Given the description of an element on the screen output the (x, y) to click on. 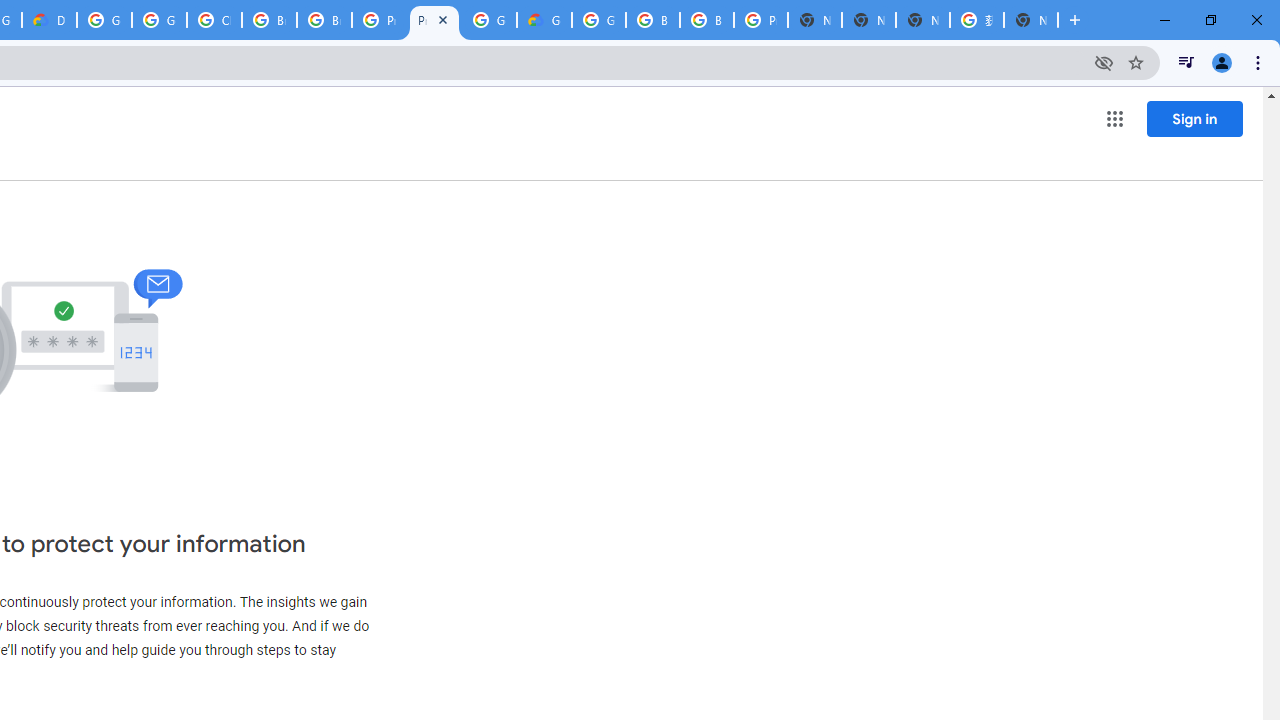
Google Cloud Platform (598, 20)
Restore (1210, 20)
Control your music, videos, and more (1185, 62)
Bookmark this tab (1135, 62)
Browse Chrome as a guest - Computer - Google Chrome Help (706, 20)
Minimize (1165, 20)
Chrome (1260, 62)
Browse Chrome as a guest - Computer - Google Chrome Help (652, 20)
Sign in (1194, 118)
Browse Chrome as a guest - Computer - Google Chrome Help (268, 20)
Google Cloud Estimate Summary (544, 20)
Close (442, 19)
